Given the description of an element on the screen output the (x, y) to click on. 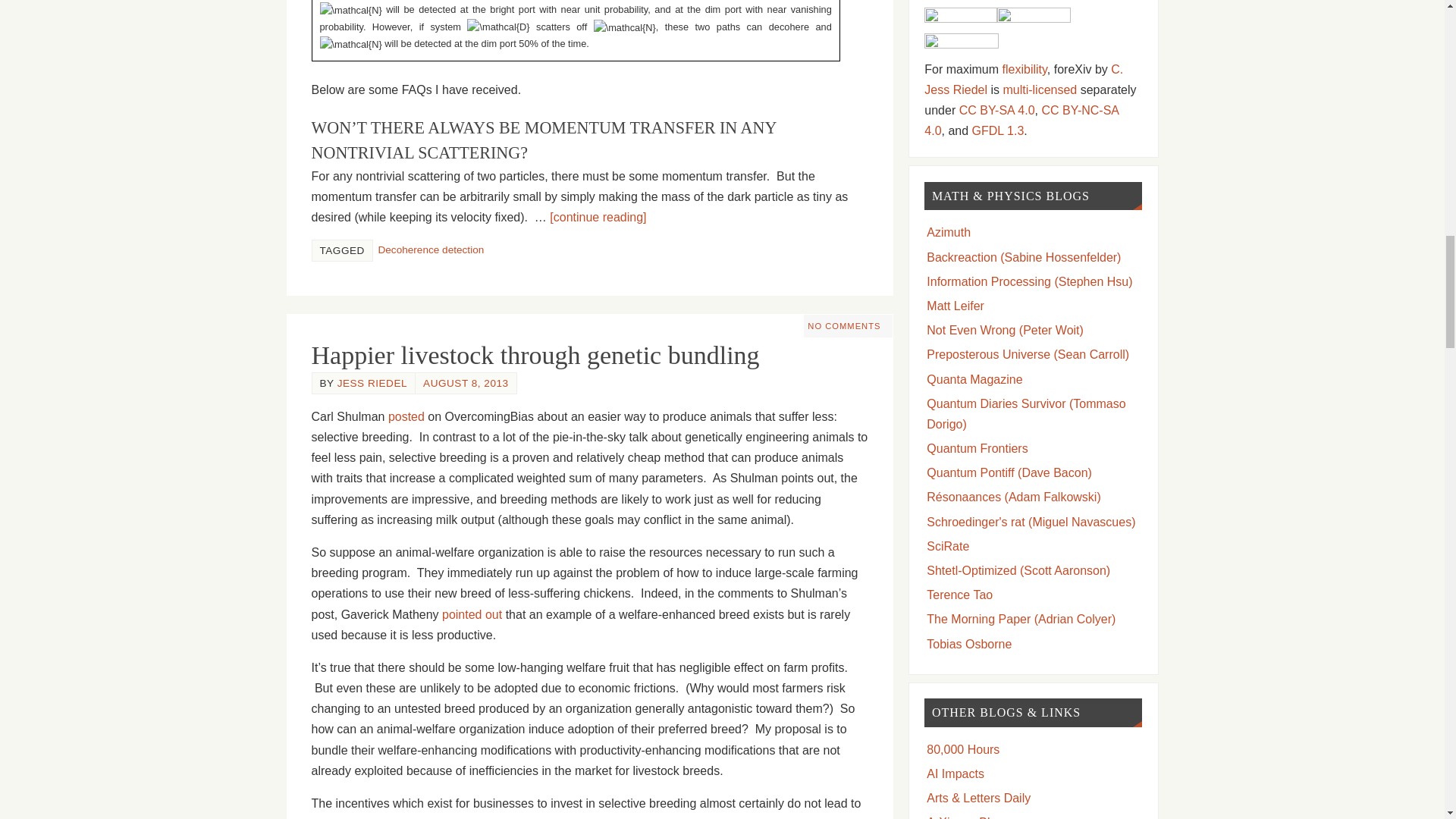
JESS RIEDEL (372, 383)
pointed out (472, 614)
AUGUST 8, 2013 (465, 383)
Decoherence detection (430, 249)
Rendered by QuickLaTeX.com (498, 27)
Rendered by QuickLaTeX.com (644, 0)
Rendered by QuickLaTeX.com (350, 10)
Rendered by QuickLaTeX.com (625, 27)
NO COMMENTS (844, 325)
posted (406, 416)
